Given the description of an element on the screen output the (x, y) to click on. 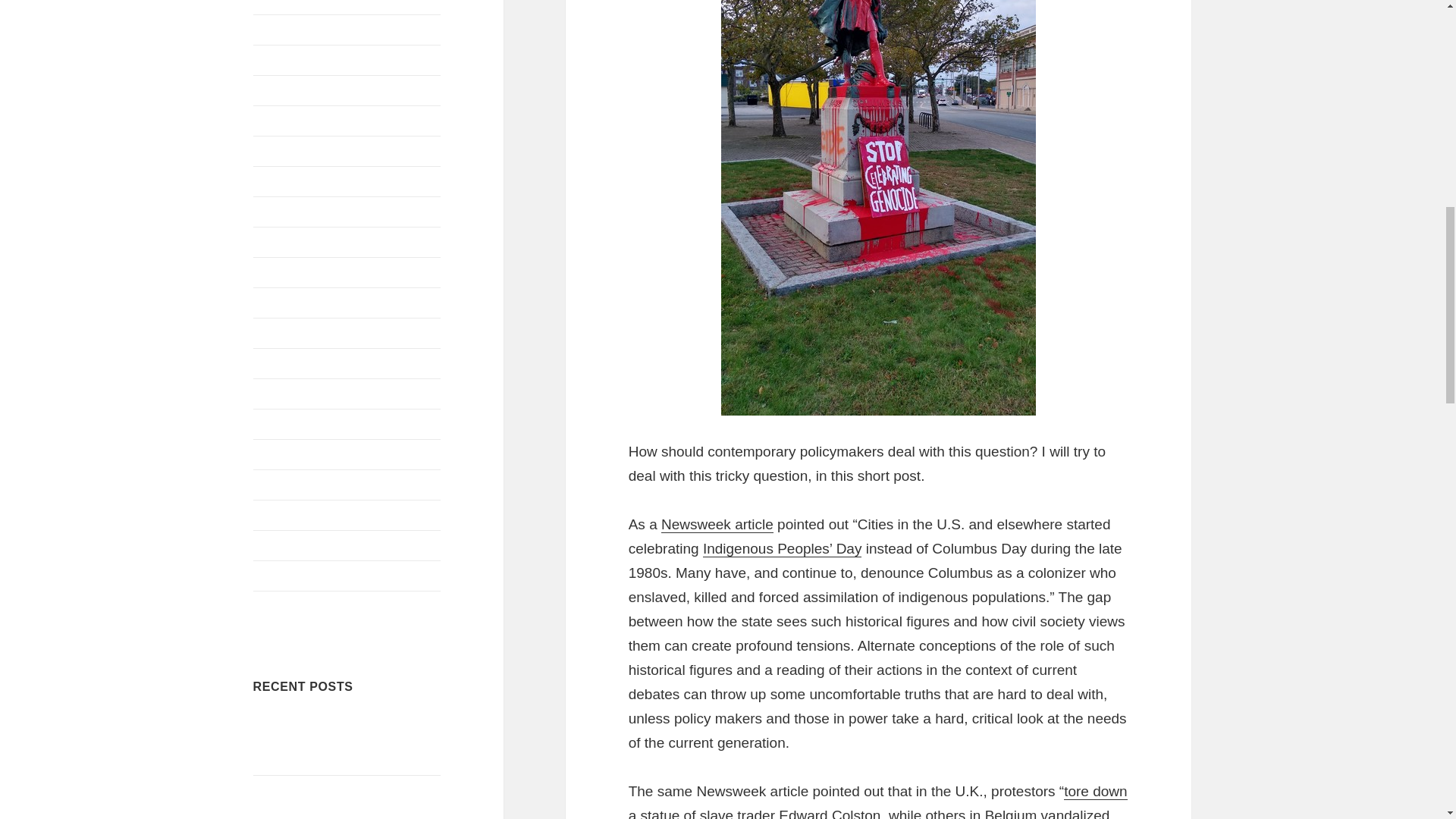
How To Series (292, 2)
Justice (272, 29)
Racism (273, 363)
Remittance (283, 423)
Philanthropy (286, 272)
Public Policy (287, 332)
Public Administration (309, 302)
MPPA Students (295, 181)
MPPA Professors (300, 151)
US riots 2020 (289, 575)
